Given the description of an element on the screen output the (x, y) to click on. 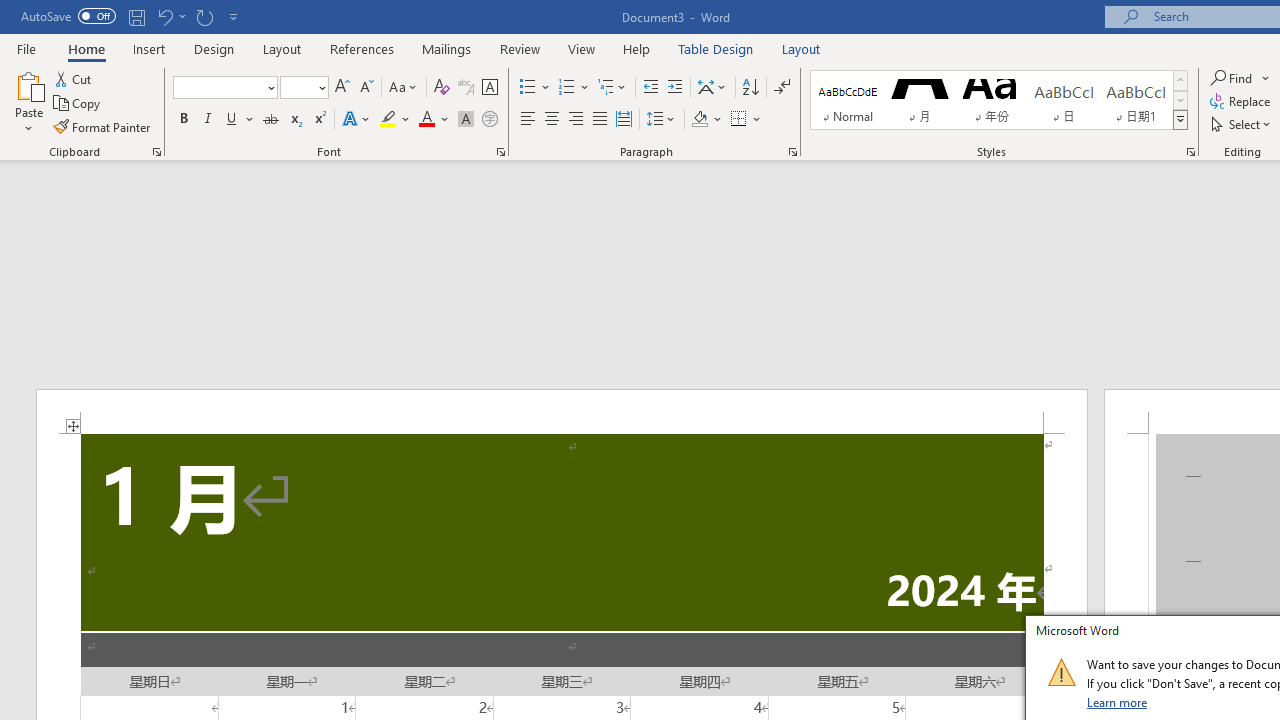
Paragraph... (792, 151)
Italic (207, 119)
Align Left (527, 119)
Open (320, 87)
Repeat Doc Close (204, 15)
Header -Section 1- (561, 411)
